Given the description of an element on the screen output the (x, y) to click on. 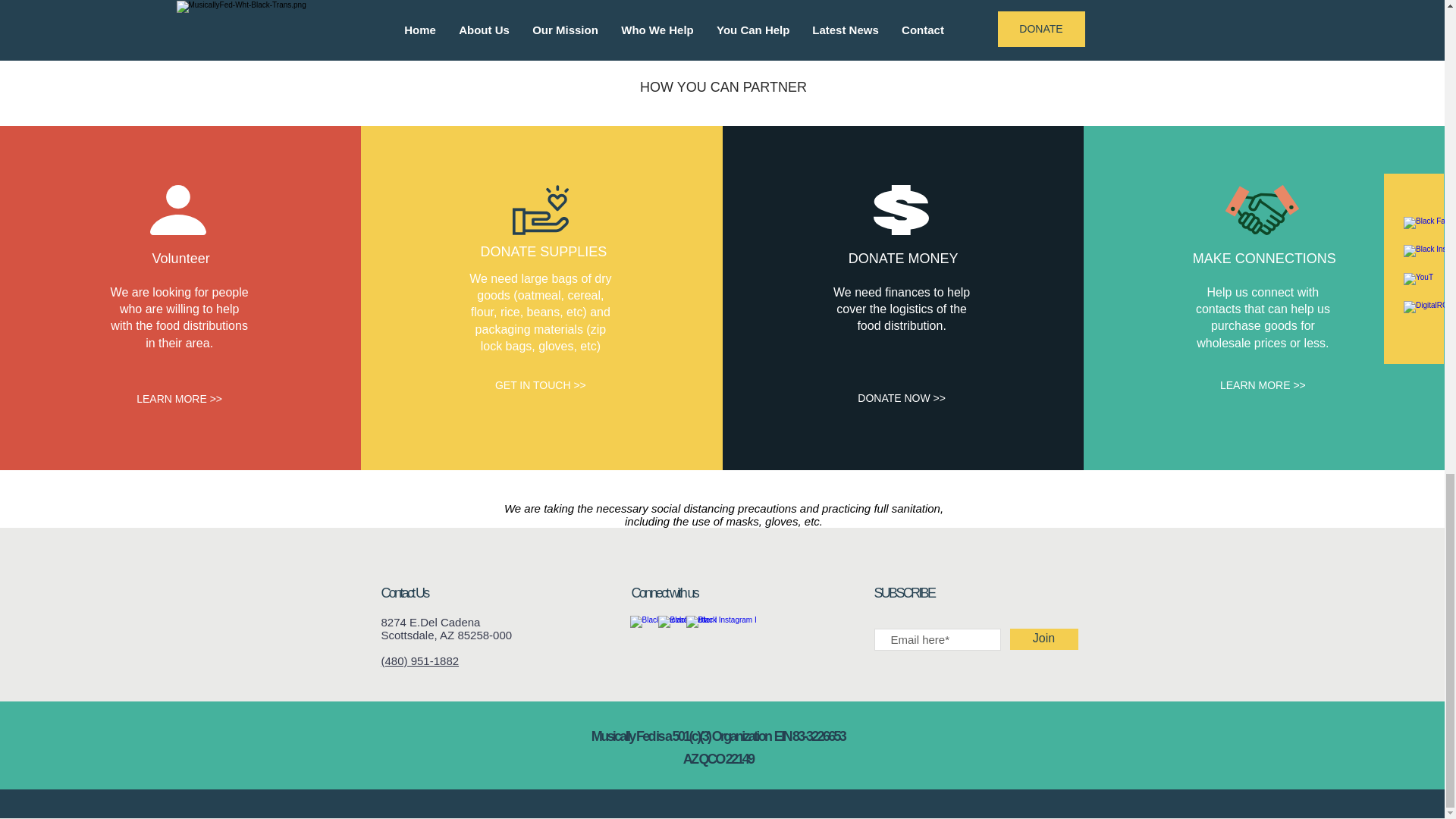
Join (1044, 638)
See more (722, 18)
